Given the description of an element on the screen output the (x, y) to click on. 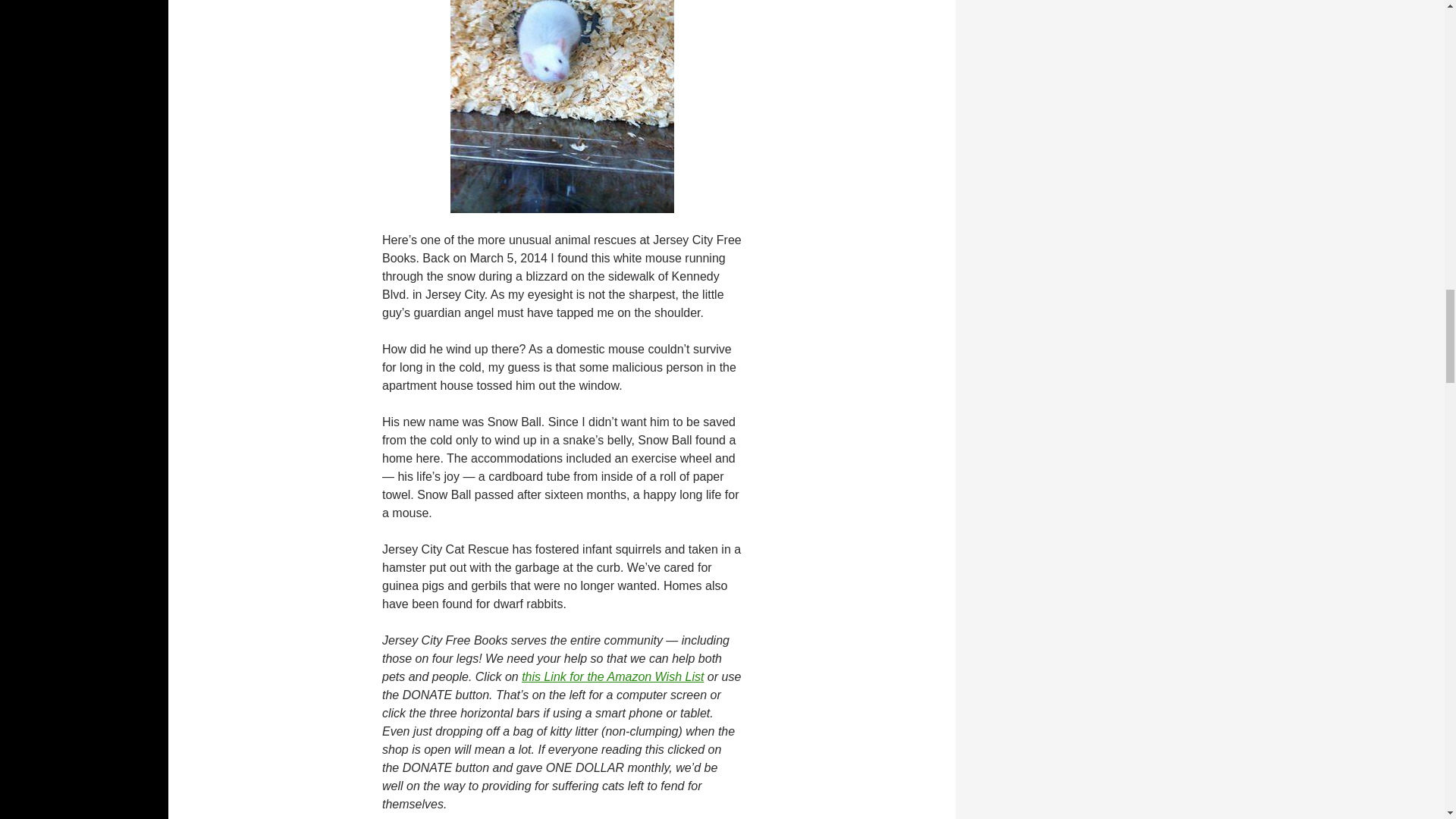
this Link for the Amazon Wish List (612, 676)
